Given the description of an element on the screen output the (x, y) to click on. 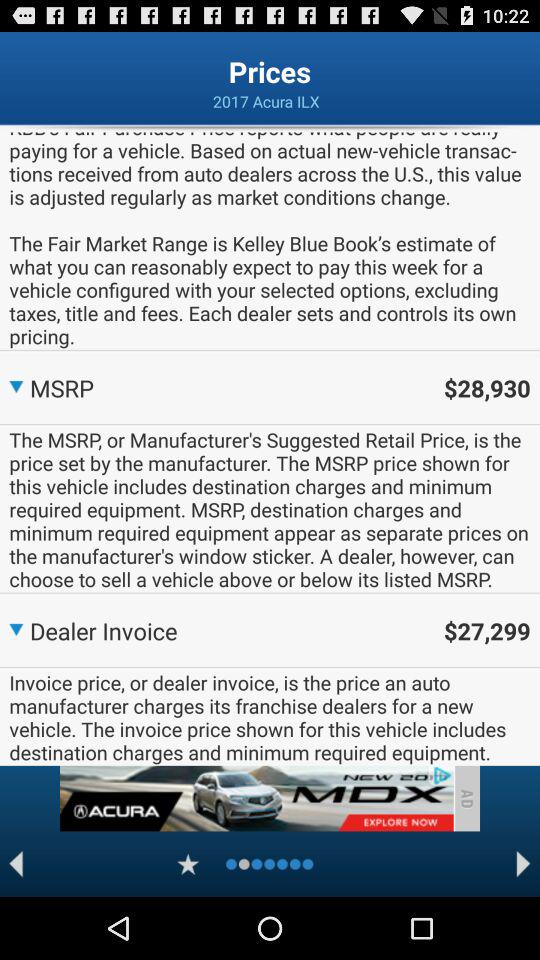
opens advertisement (256, 798)
